Given the description of an element on the screen output the (x, y) to click on. 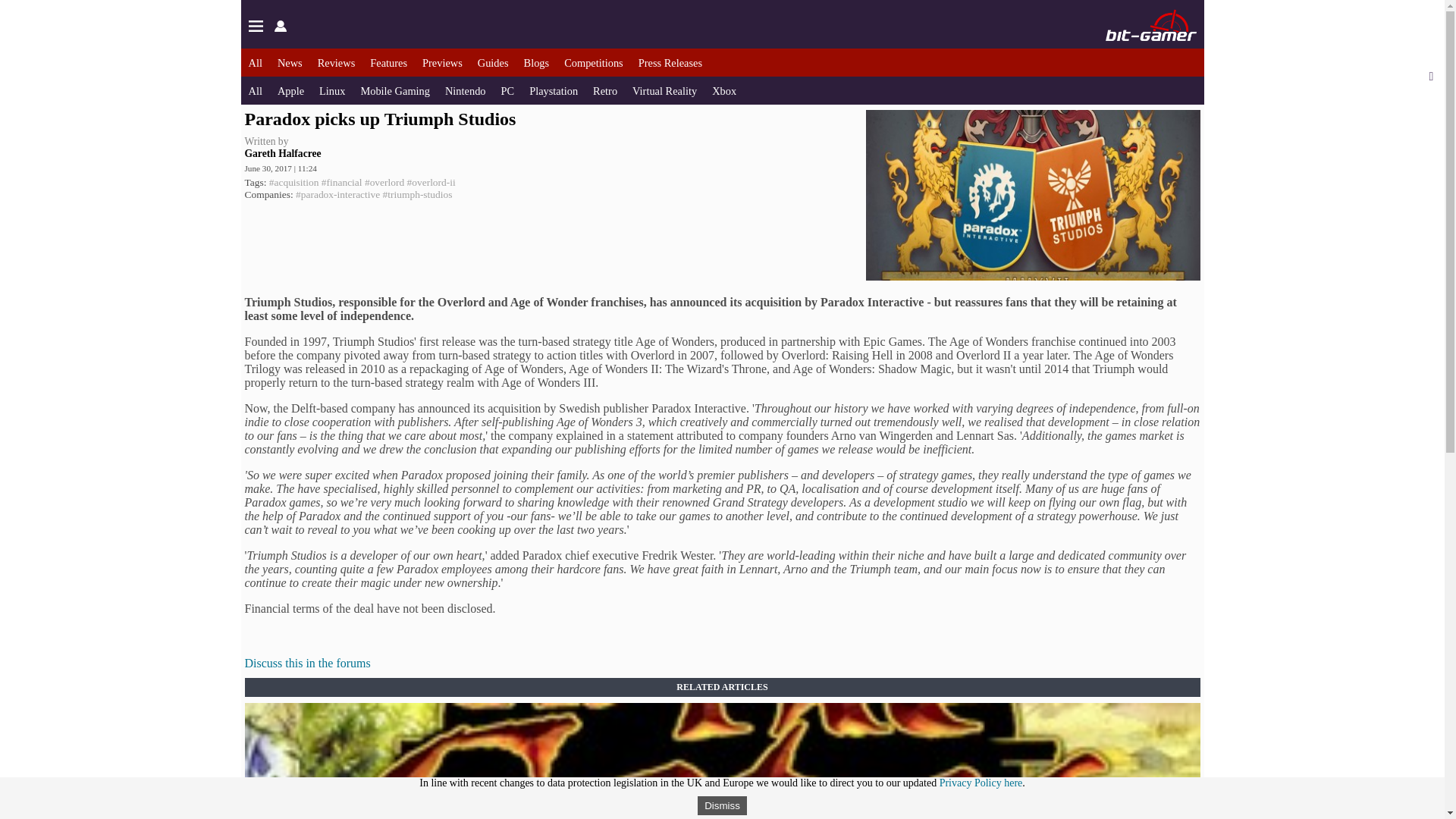
Gareth Halfacree (282, 153)
Retro (604, 91)
Xbox (723, 91)
Linux (331, 91)
Mobile Gaming (394, 91)
Virtual Reality (664, 91)
Competitions (593, 62)
Previews (442, 62)
All (255, 62)
Features (388, 62)
